Given the description of an element on the screen output the (x, y) to click on. 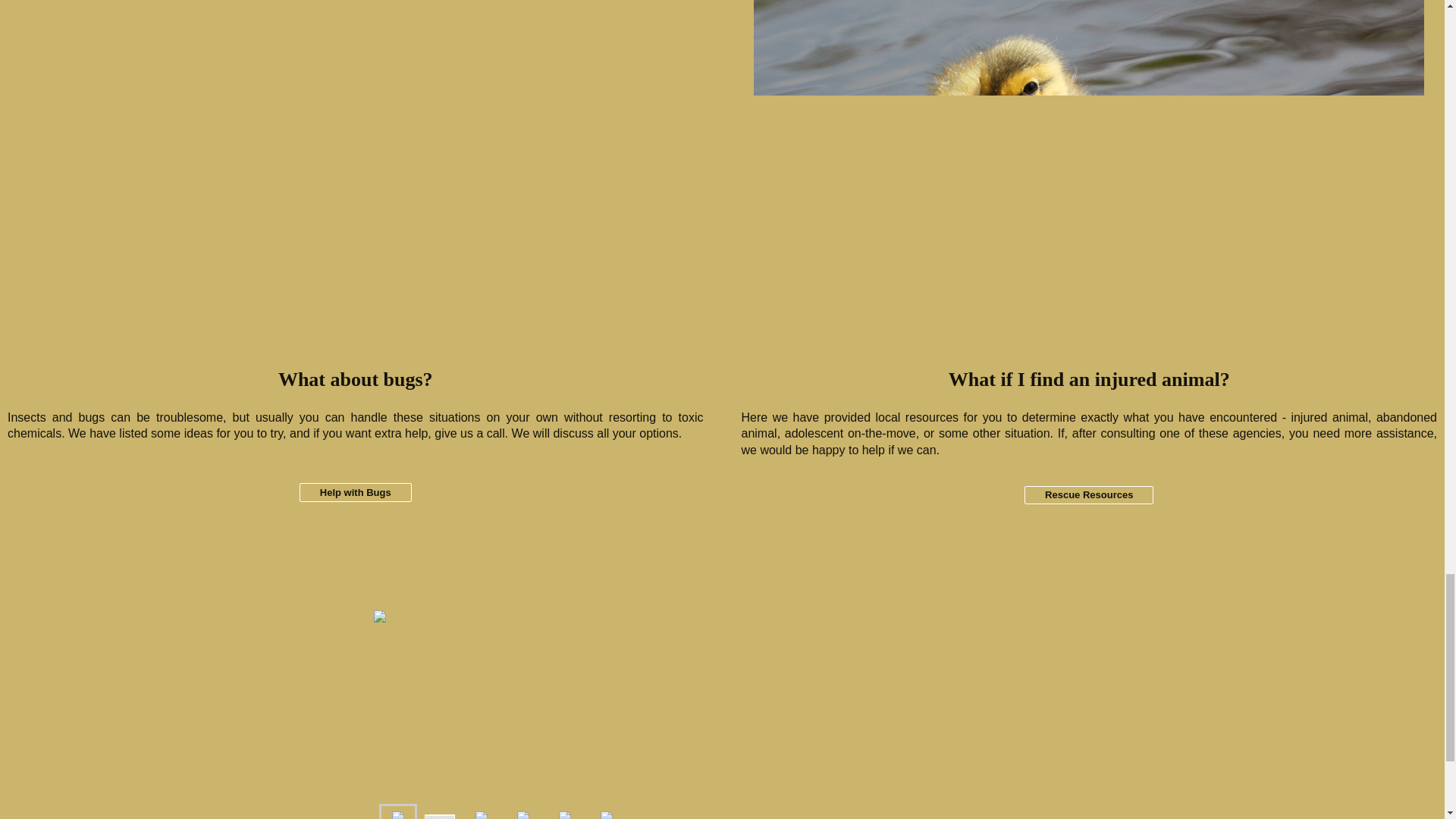
Help with Bugs (355, 492)
Rescue Resources (1089, 495)
